Given the description of an element on the screen output the (x, y) to click on. 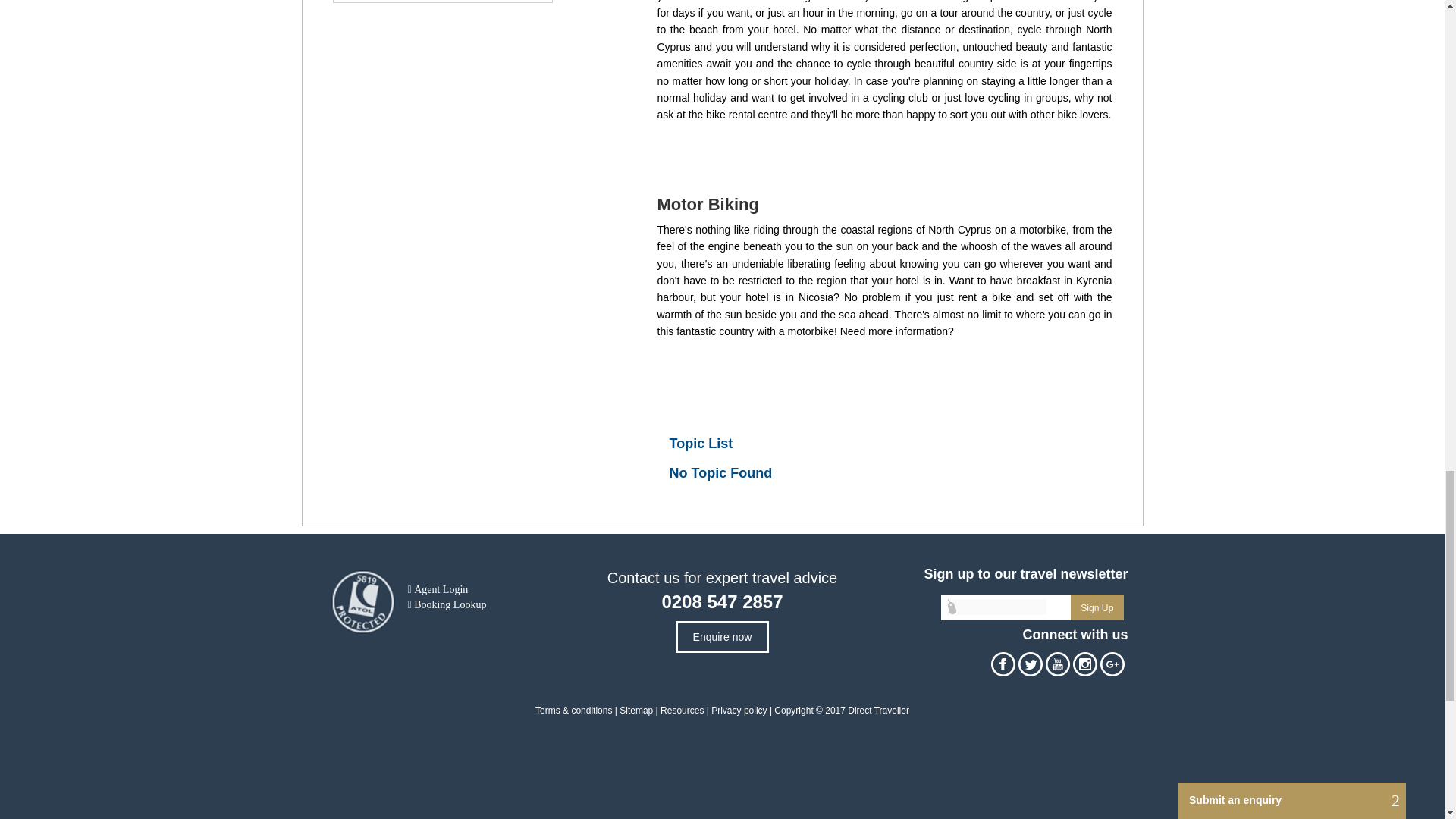
Sign Up (1097, 606)
